Given the description of an element on the screen output the (x, y) to click on. 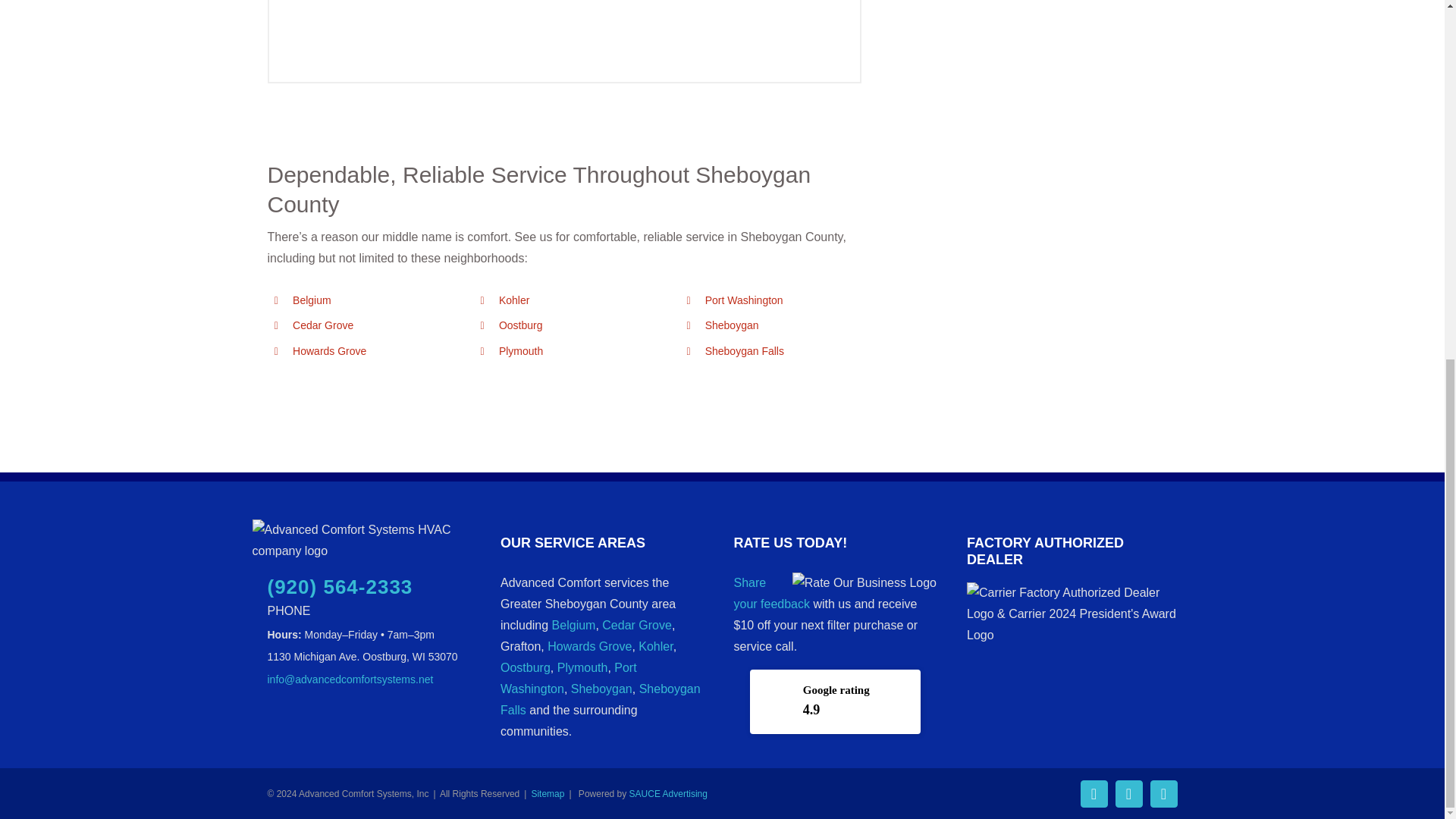
Email (1163, 793)
Facebook (1093, 793)
Instagram (1128, 793)
